Given the description of an element on the screen output the (x, y) to click on. 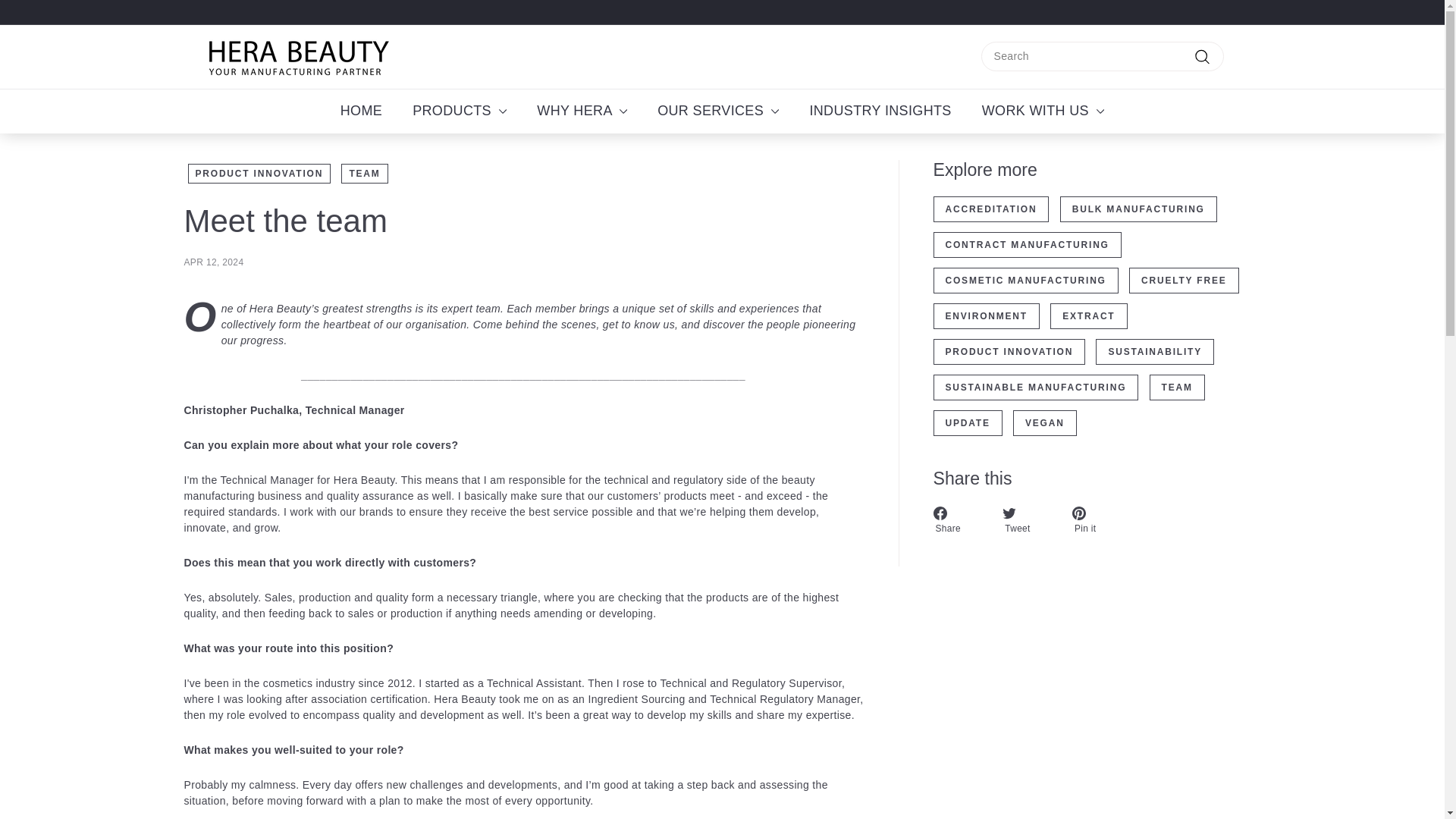
Tweet on Twitter (1030, 520)
Share on Facebook (960, 520)
twitter (1009, 513)
HOME (360, 110)
Pin on Pinterest (1097, 520)
